Given the description of an element on the screen output the (x, y) to click on. 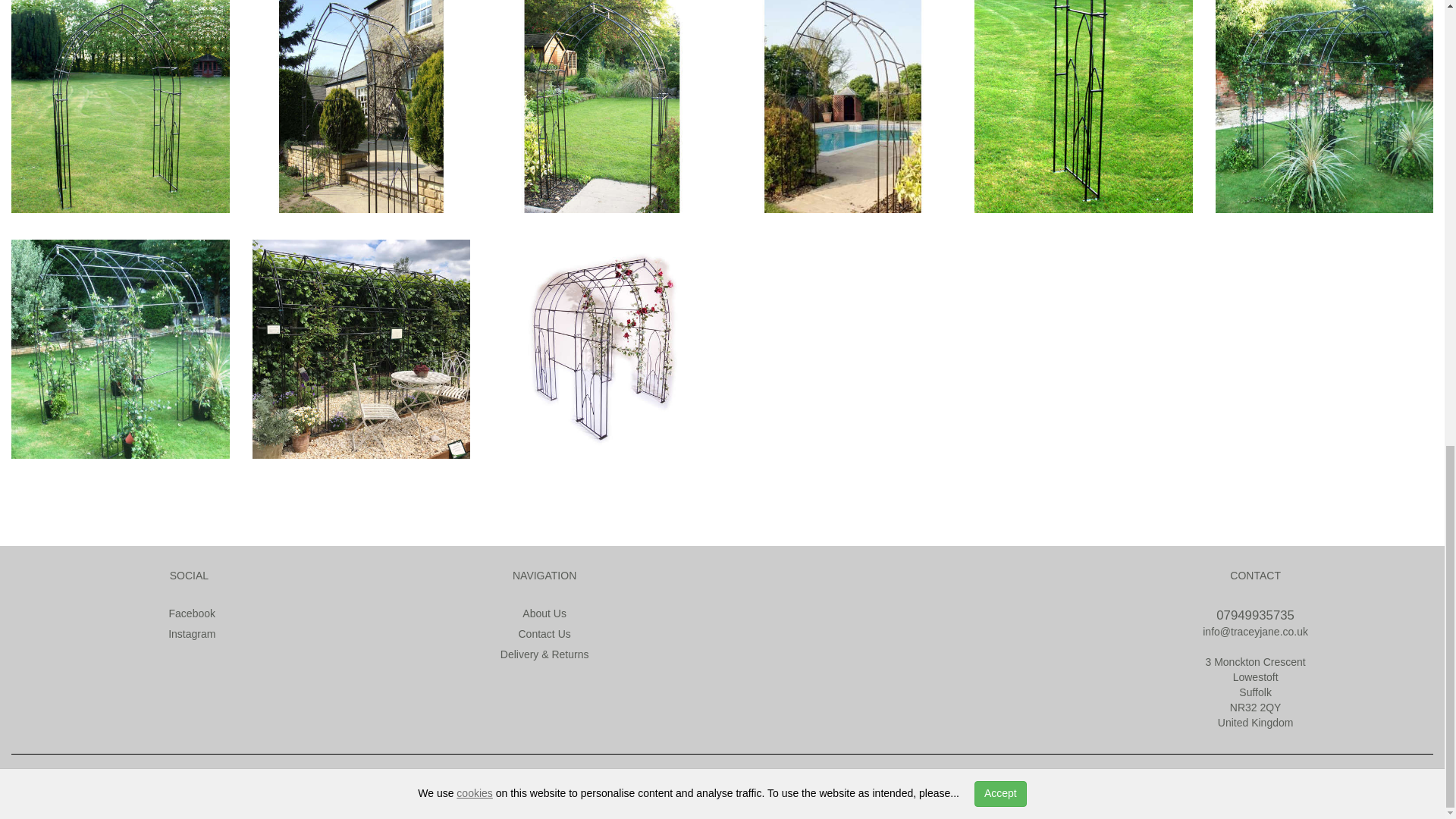
eCommerce web design (212, 779)
Contact Us (544, 633)
Privacy (702, 779)
uporium (306, 779)
About Us (544, 613)
  Instagram (188, 633)
07949935735 (1254, 615)
  Facebook (189, 613)
